Given the description of an element on the screen output the (x, y) to click on. 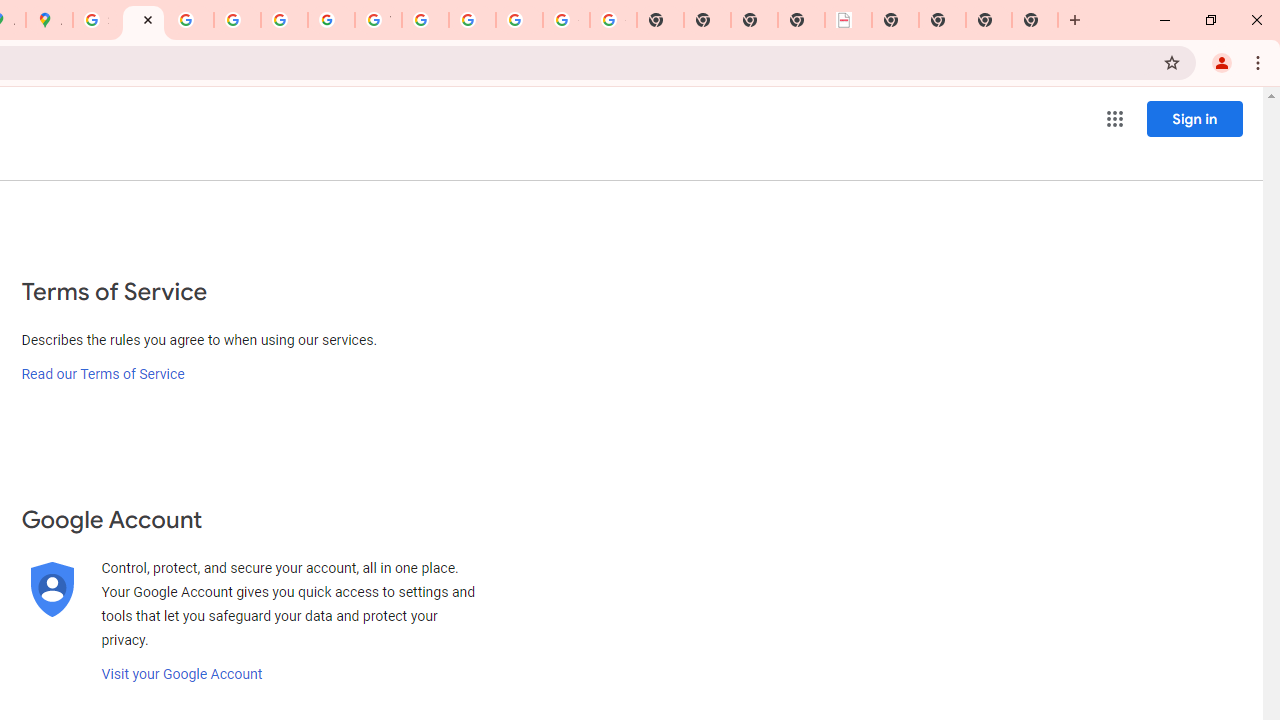
Privacy Help Center - Policies Help (189, 20)
LAAD Defence & Security 2025 | BAE Systems (848, 20)
Visit your Google Account (181, 674)
Read our Terms of Service (102, 374)
